Given the description of an element on the screen output the (x, y) to click on. 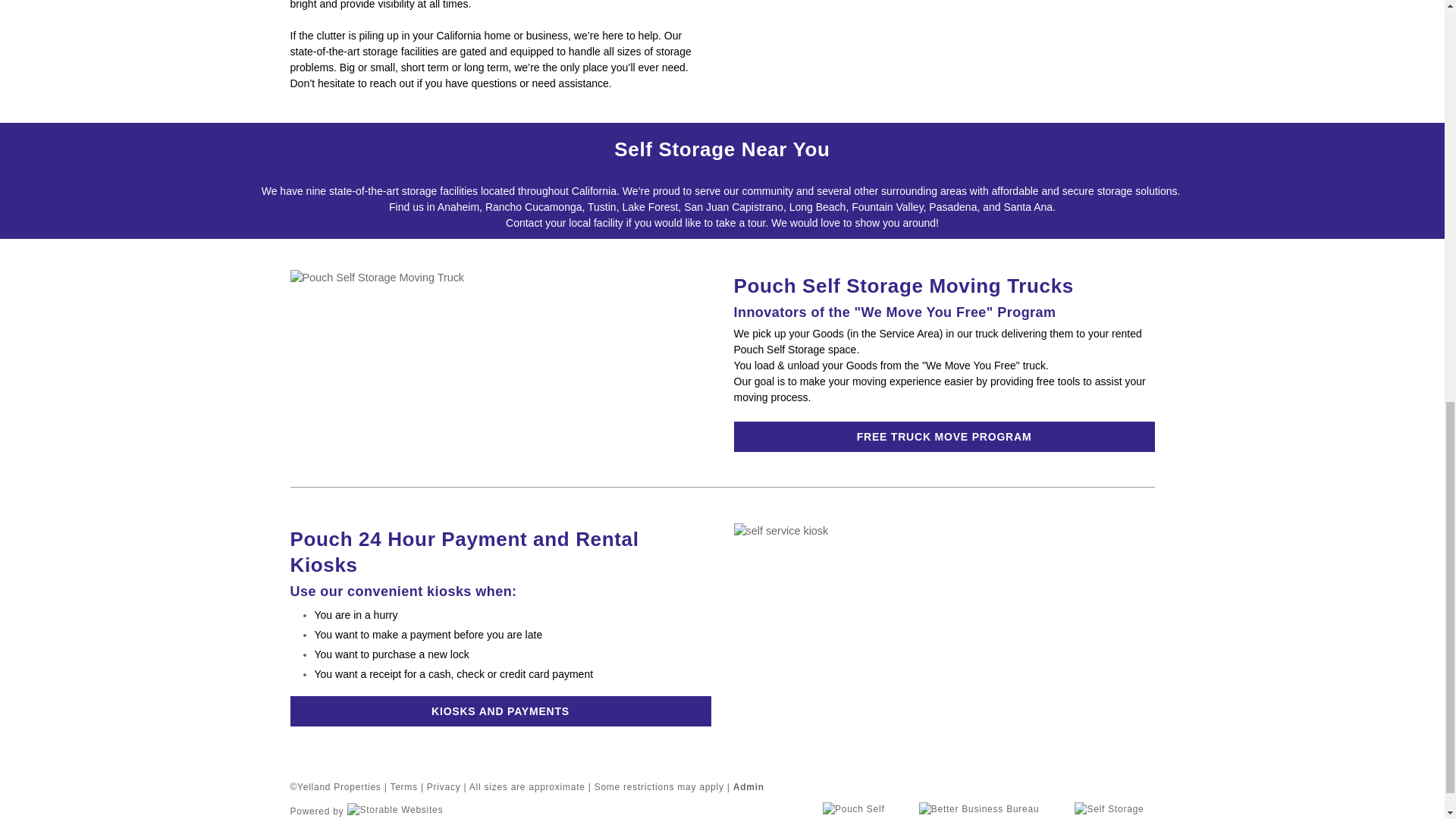
FREE TRUCK MOVE PROGRAM (943, 436)
Privacy (443, 787)
Terms (403, 787)
Admin (748, 787)
Powered by (365, 808)
KIOSKS AND PAYMENTS (499, 711)
Rental and Payment Kiosks available 24 hours a day. (780, 531)
Free moving truck with rental. Ask for details. (376, 278)
